Given the description of an element on the screen output the (x, y) to click on. 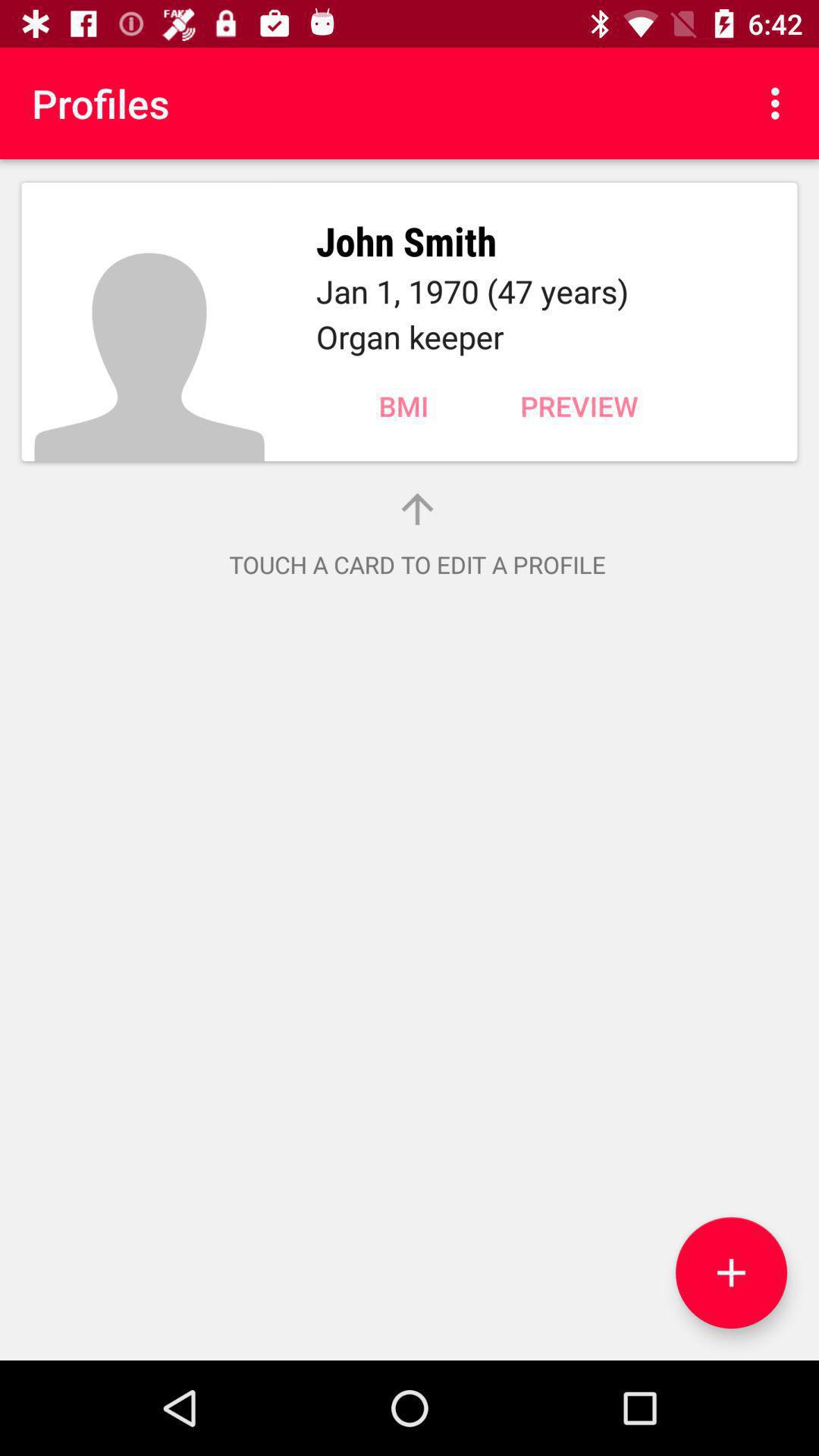
launch item next to the profiles icon (779, 103)
